Given the description of an element on the screen output the (x, y) to click on. 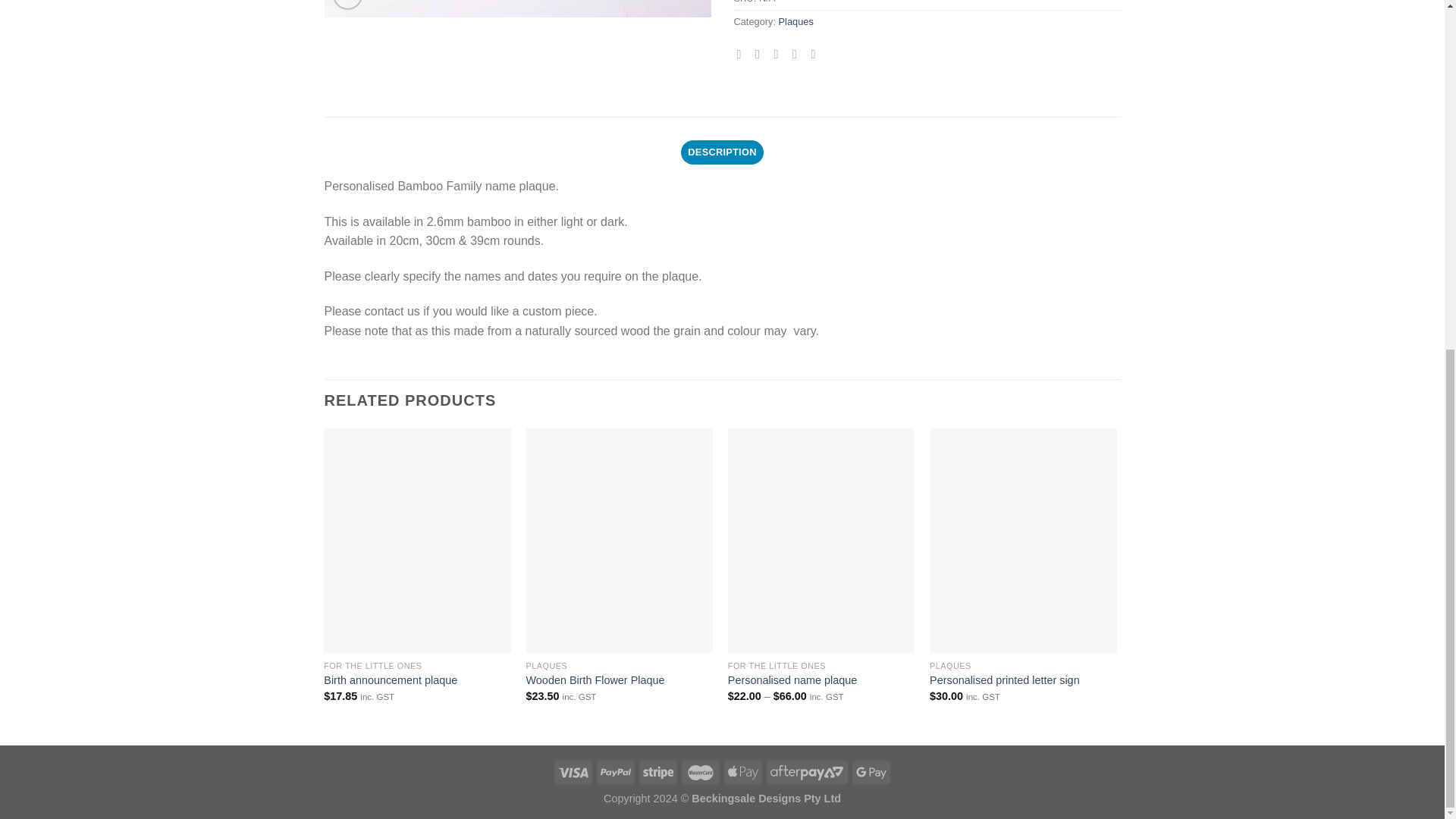
Share on Tumblr (816, 53)
Plaques (795, 21)
Zoom (347, 4)
Share on Facebook (742, 53)
Email to a Friend (780, 53)
